Given the description of an element on the screen output the (x, y) to click on. 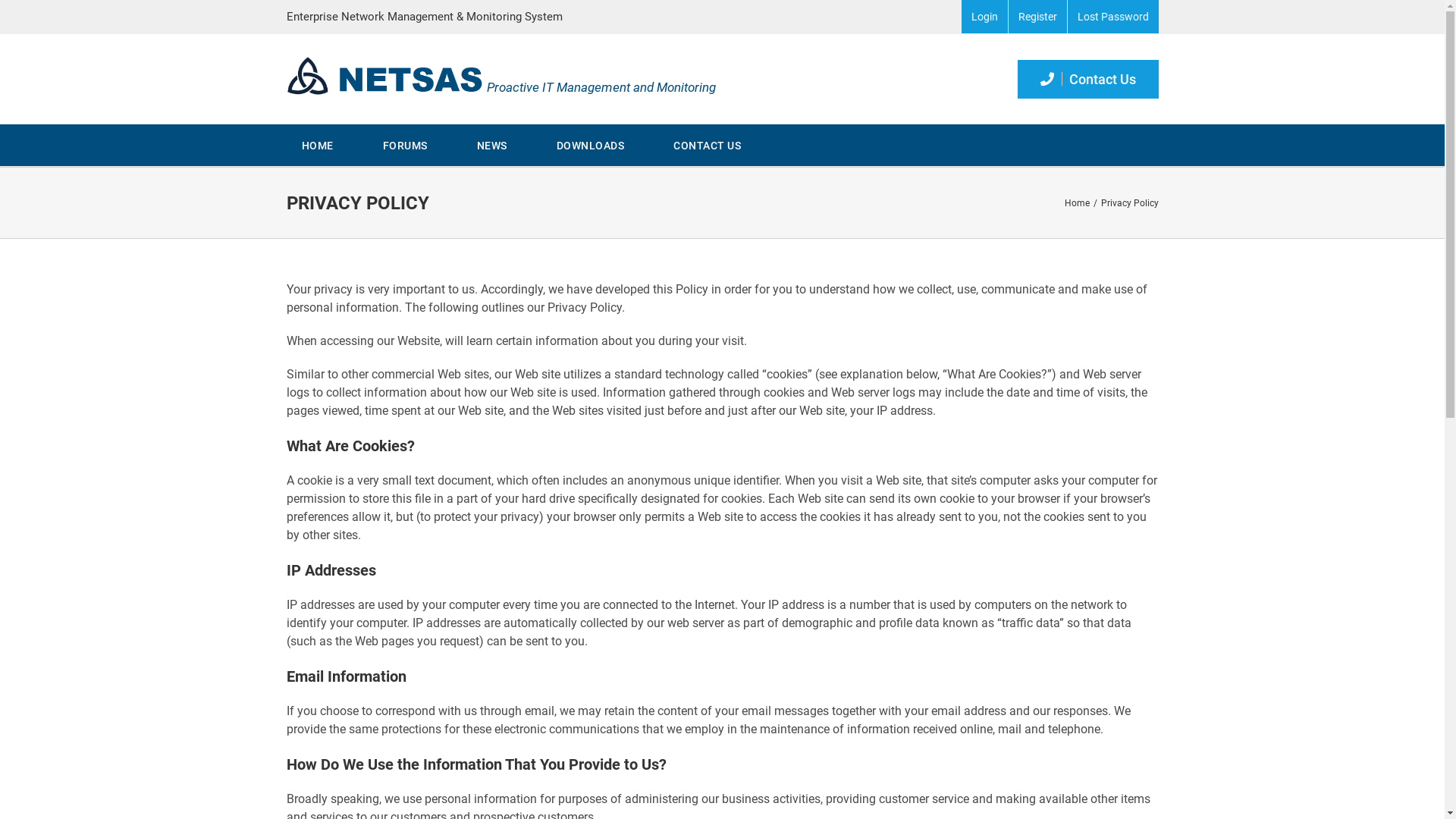
Lost Password Element type: text (1112, 16)
Home Element type: text (1076, 202)
Login Element type: text (984, 16)
CONTACT US Element type: text (707, 145)
Register Element type: text (1037, 16)
Contact Us Element type: text (1087, 78)
HOME Element type: text (317, 145)
DOWNLOADS Element type: text (590, 145)
FORUMS Element type: text (404, 145)
NEWS Element type: text (491, 145)
